Given the description of an element on the screen output the (x, y) to click on. 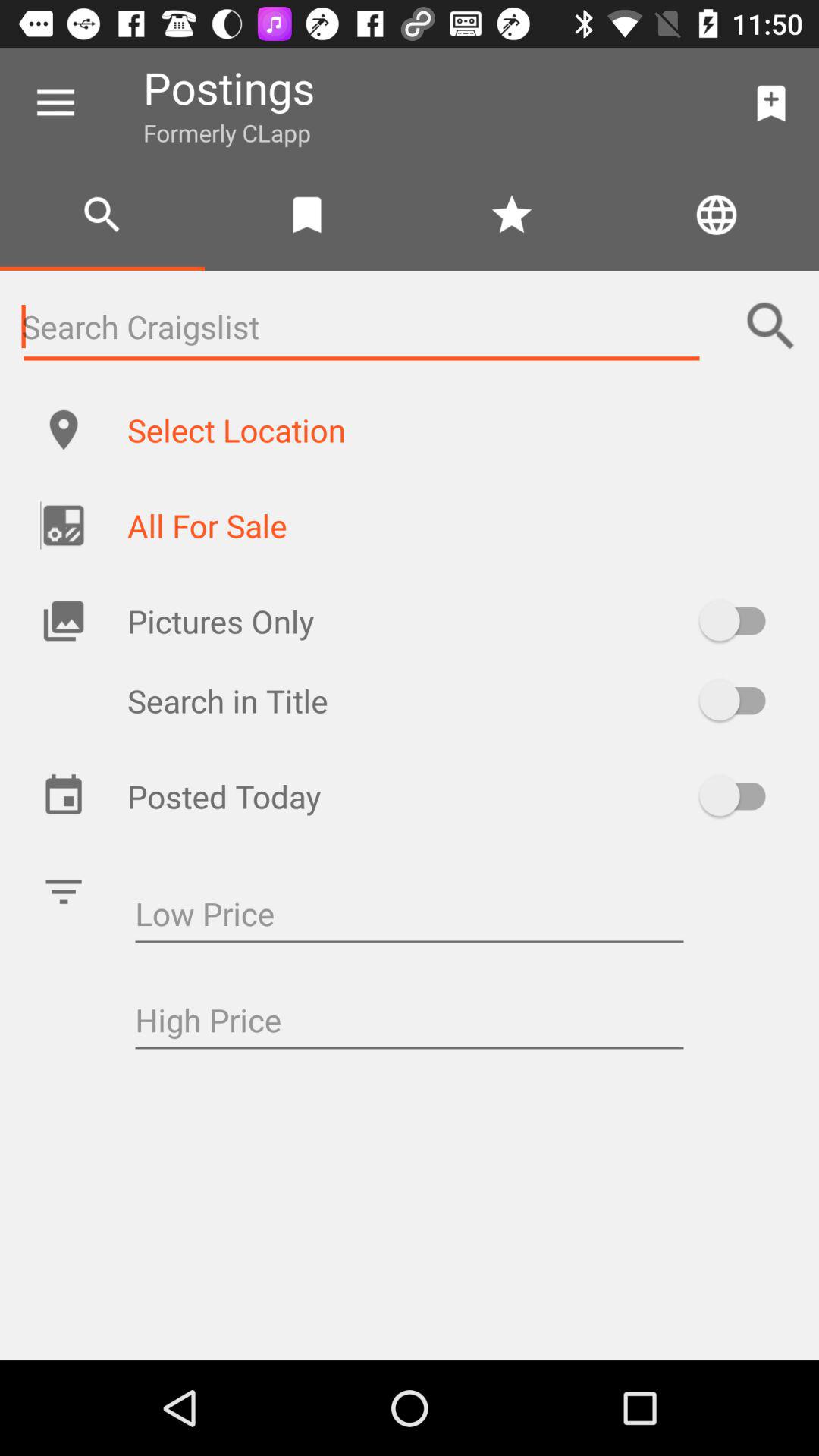
set high price (409, 1021)
